Given the description of an element on the screen output the (x, y) to click on. 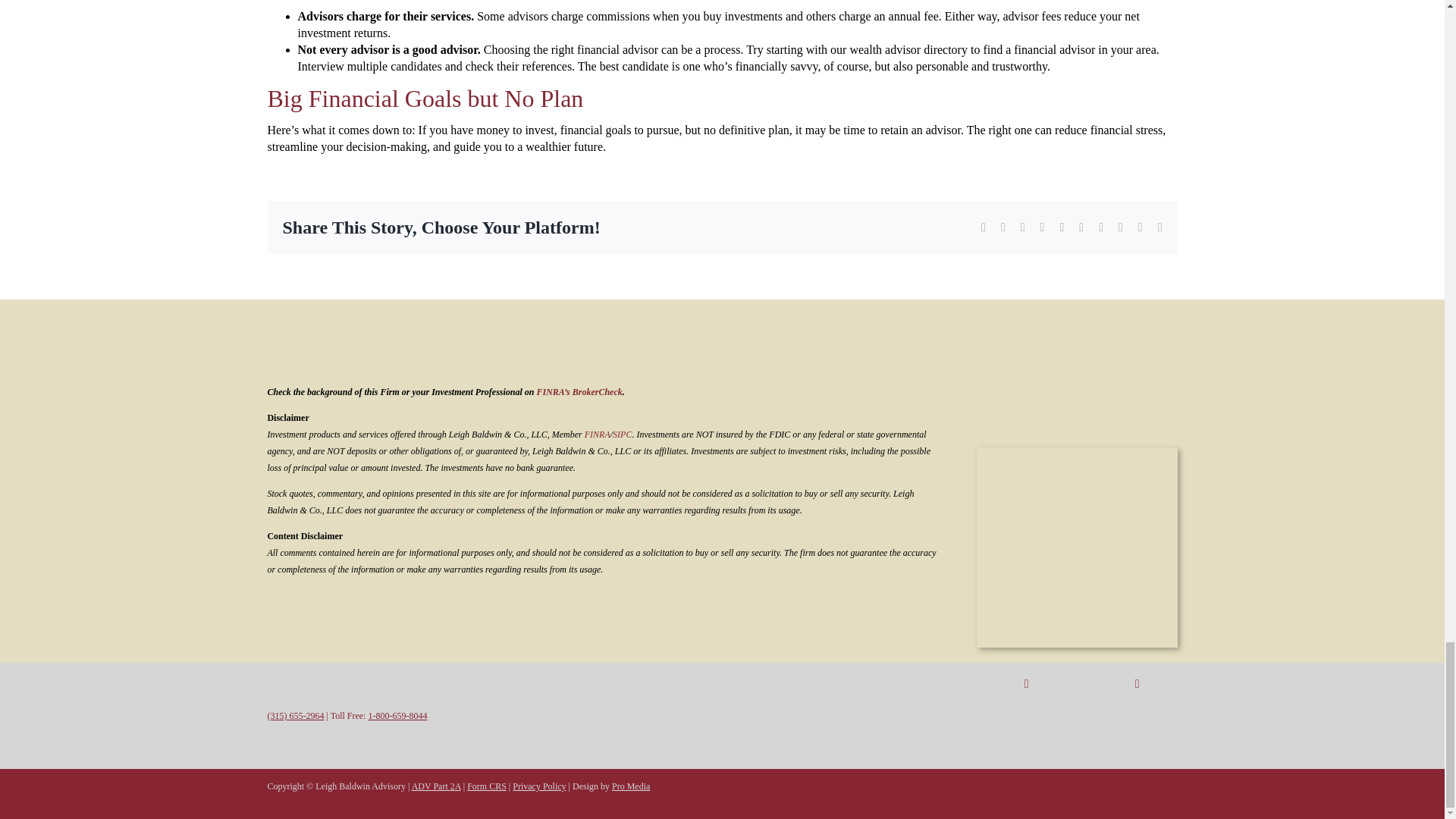
opens in new window (597, 434)
Opens in new window (580, 391)
